Given the description of an element on the screen output the (x, y) to click on. 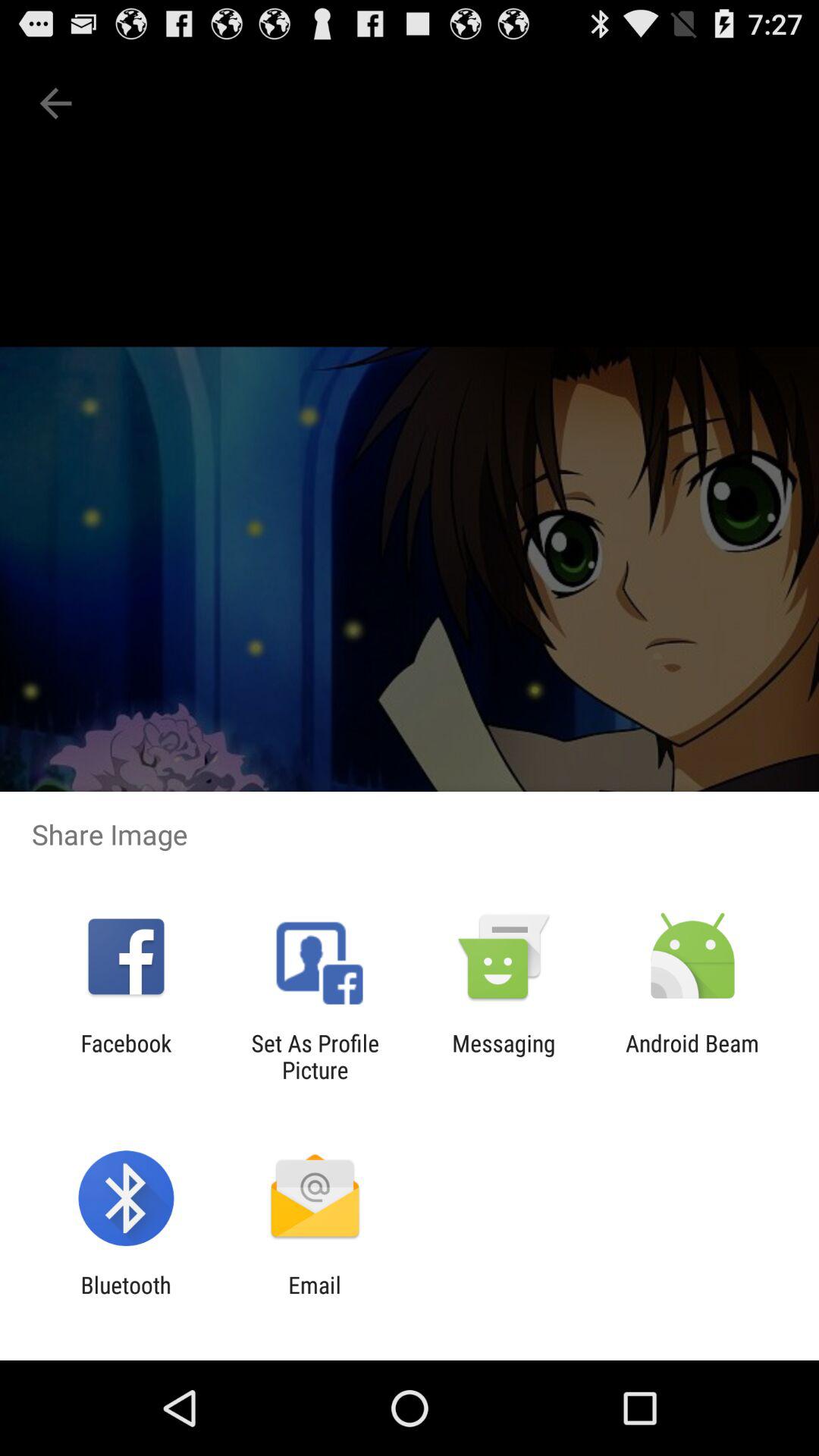
flip until android beam icon (692, 1056)
